Given the description of an element on the screen output the (x, y) to click on. 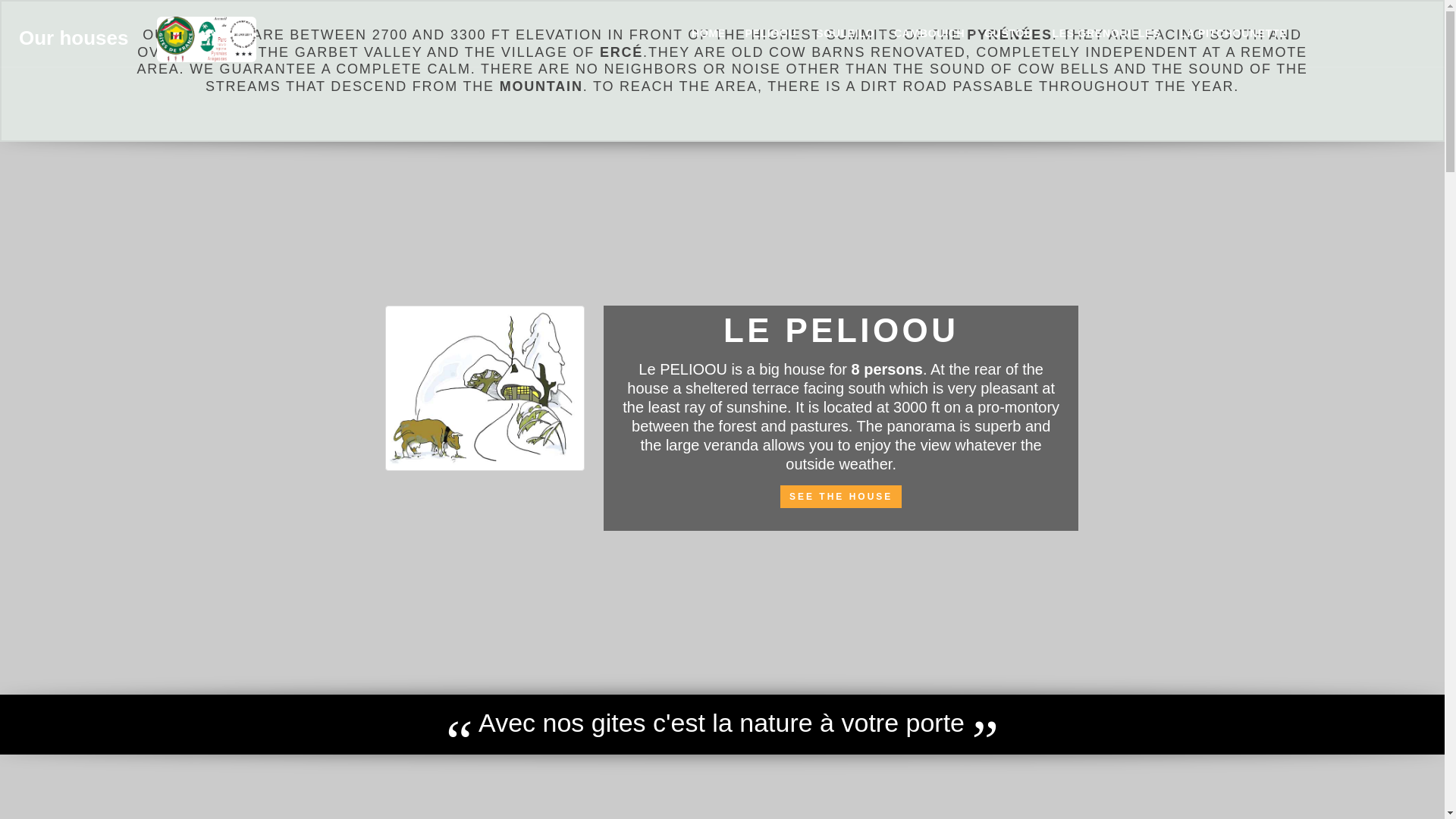
PELIOOU (770, 33)
SEE THE HOUSE (840, 496)
LA PITCHOUNETTE (1233, 33)
LES GRENOUILLES (1106, 33)
HOME (707, 33)
SOULEILO (845, 33)
CAMBOUICH (928, 33)
GUSTOU (1008, 33)
Our houses (137, 18)
